Given the description of an element on the screen output the (x, y) to click on. 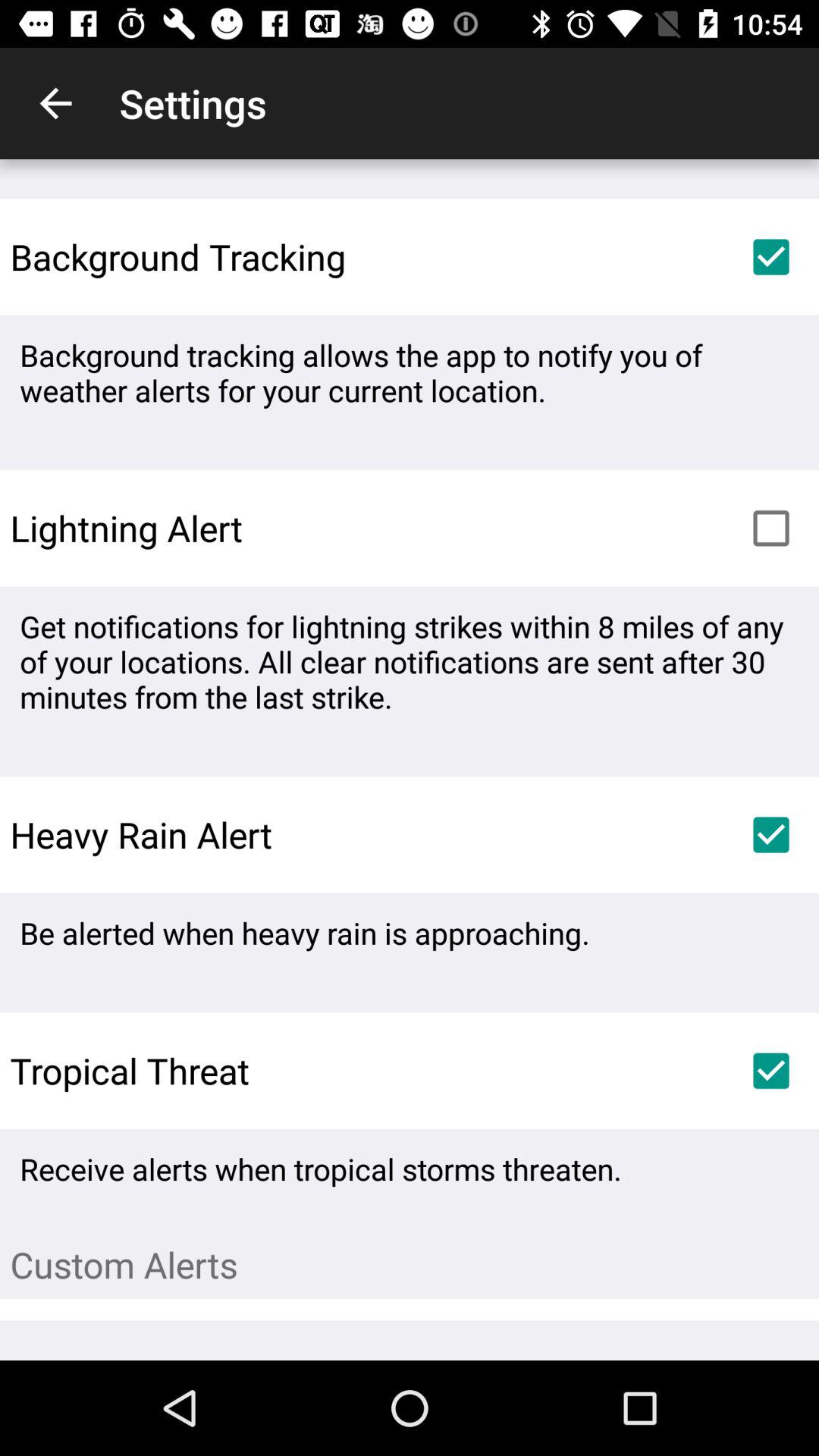
select heavy rain (771, 834)
